Given the description of an element on the screen output the (x, y) to click on. 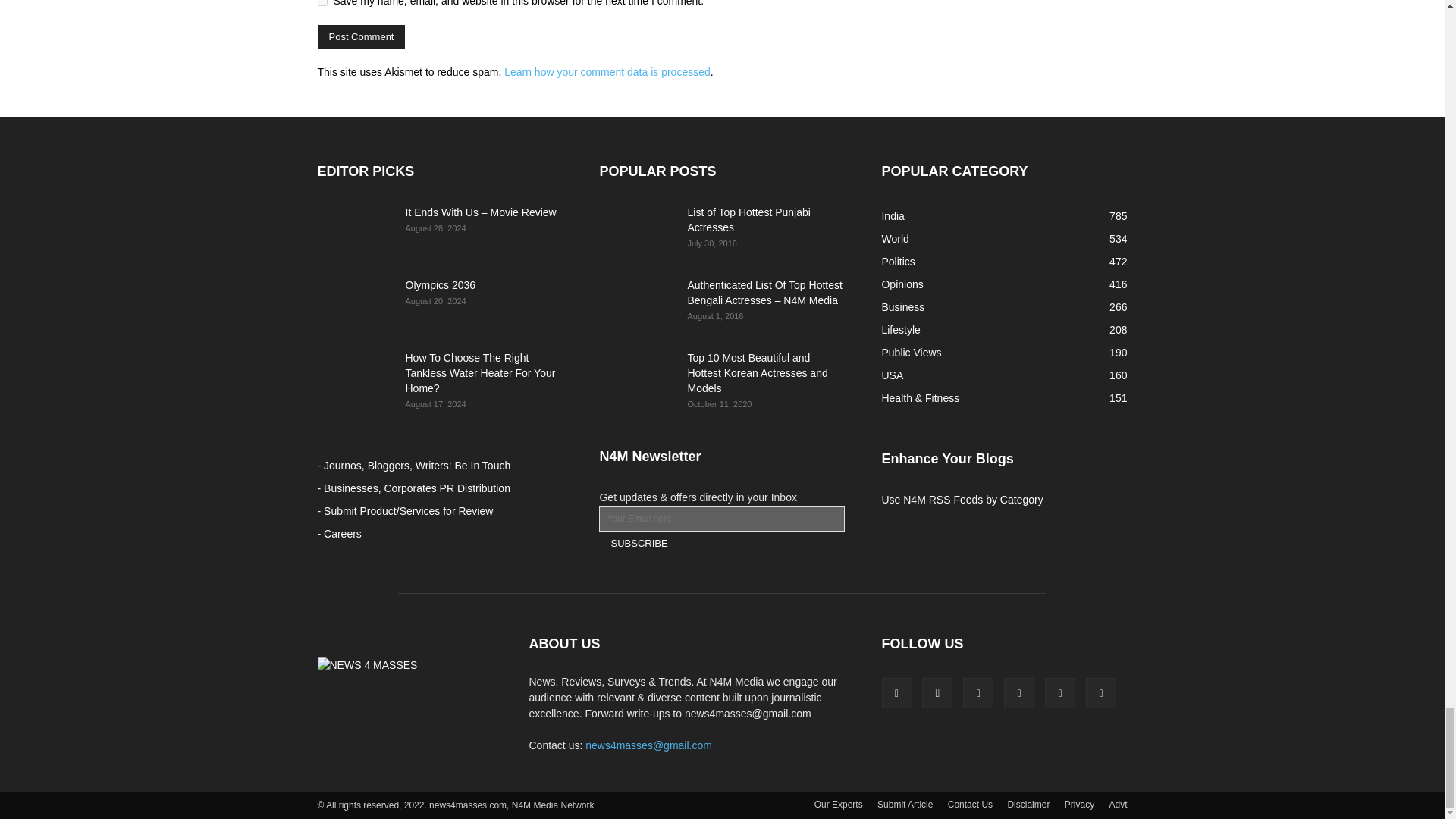
Post Comment (360, 36)
SUBSCRIBE (638, 543)
yes (321, 2)
